Given the description of an element on the screen output the (x, y) to click on. 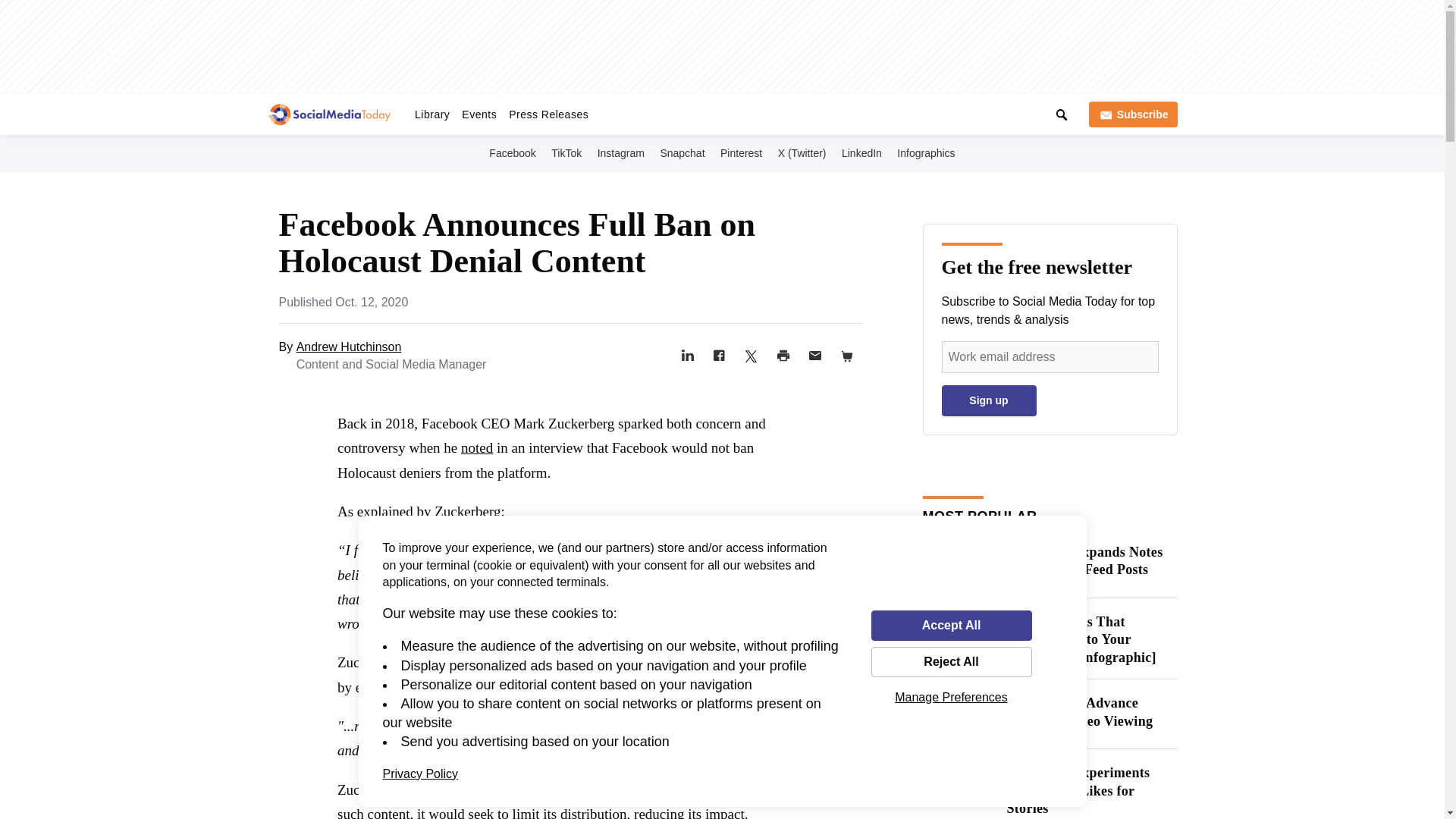
Facebook (512, 152)
Subscribe (1132, 114)
noted (477, 447)
Pinterest (741, 152)
Become a Contributor (806, 110)
SMT Experts (710, 110)
Infographics (925, 152)
Instagram (620, 152)
TikTok (566, 152)
Zuckerberg (466, 511)
Accept All (950, 625)
Snapchat (681, 152)
Privacy Policy (419, 773)
Andrew Hutchinson (349, 346)
Live Twitter Chat (624, 110)
